Given the description of an element on the screen output the (x, y) to click on. 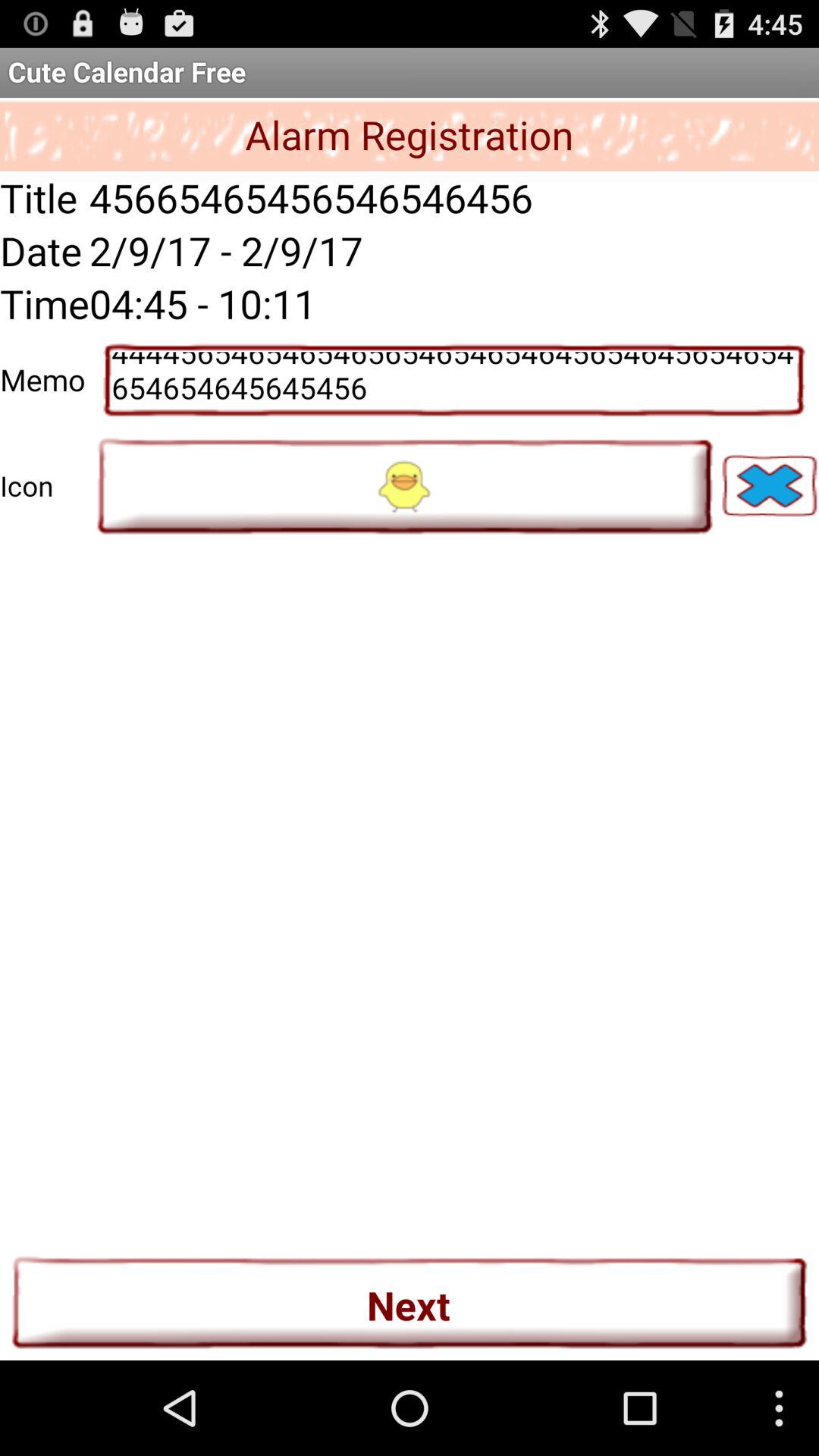
cancel (769, 485)
